Given the description of an element on the screen output the (x, y) to click on. 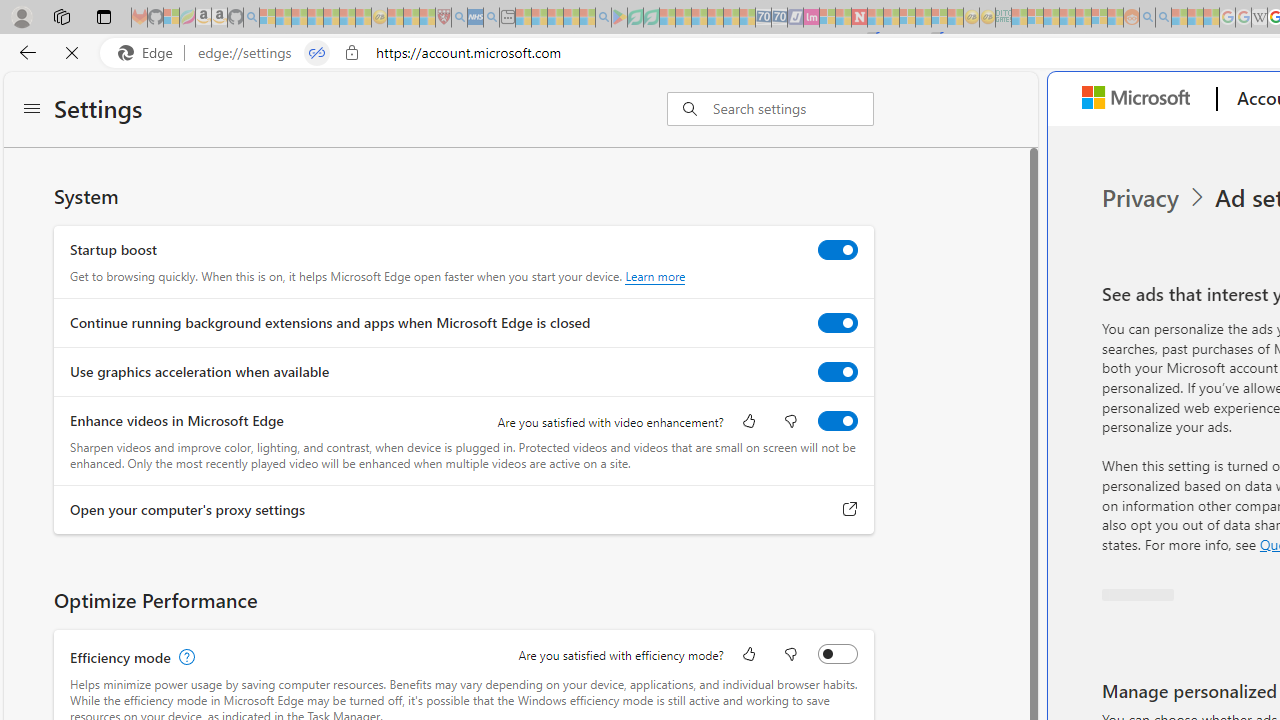
The Weather Channel - MSN - Sleeping (299, 17)
Learn more (655, 276)
Utah sues federal government - Search - Sleeping (1163, 17)
Cheap Hotels - Save70.com - Sleeping (779, 17)
Edge (150, 53)
Jobs - lastminute.com Investor Portal - Sleeping (811, 17)
14 Common Myths Debunked By Scientific Facts - Sleeping (891, 17)
Open your computer's proxy settings (849, 509)
